Given the description of an element on the screen output the (x, y) to click on. 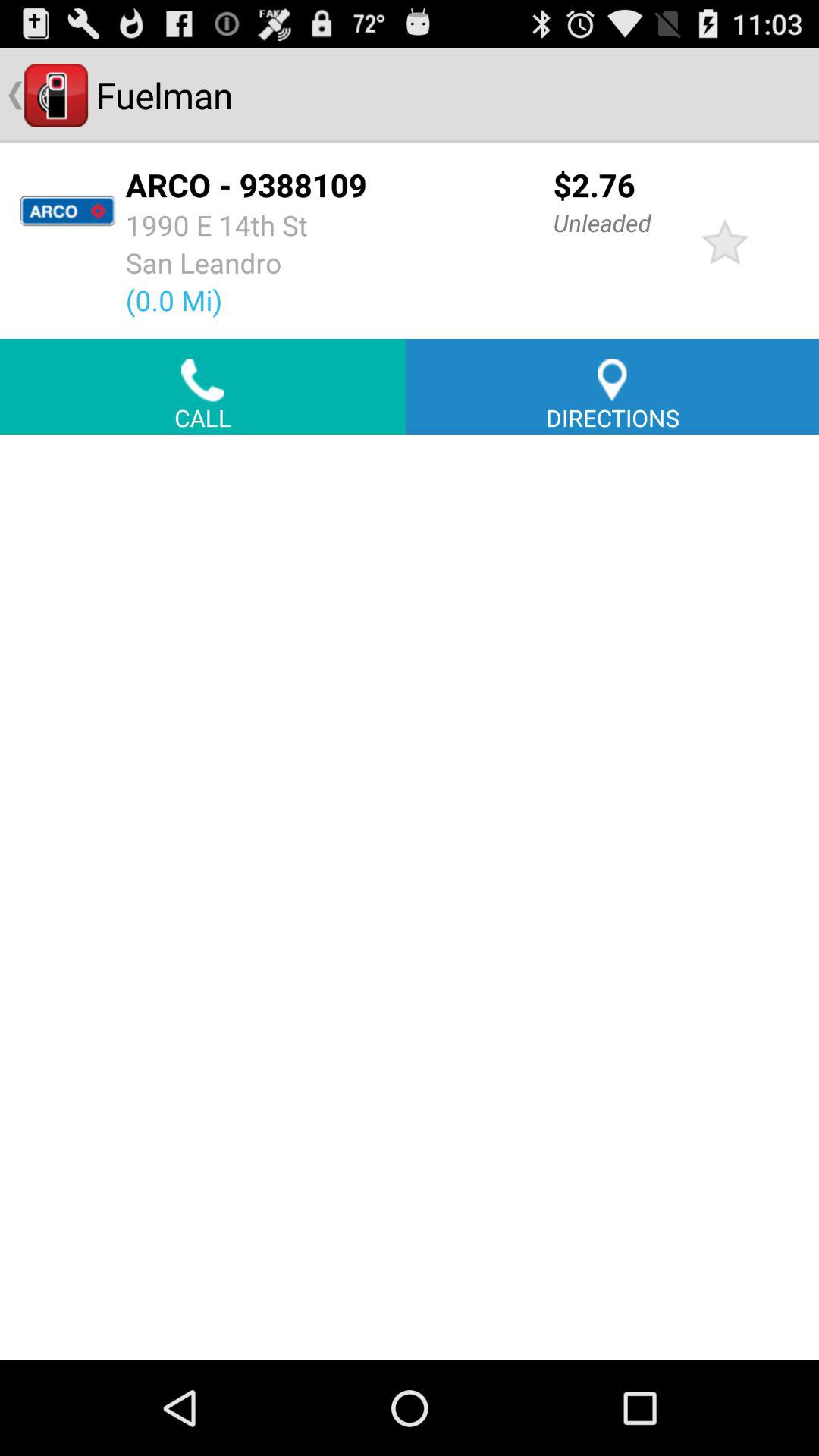
swipe to the directions button (612, 386)
